Given the description of an element on the screen output the (x, y) to click on. 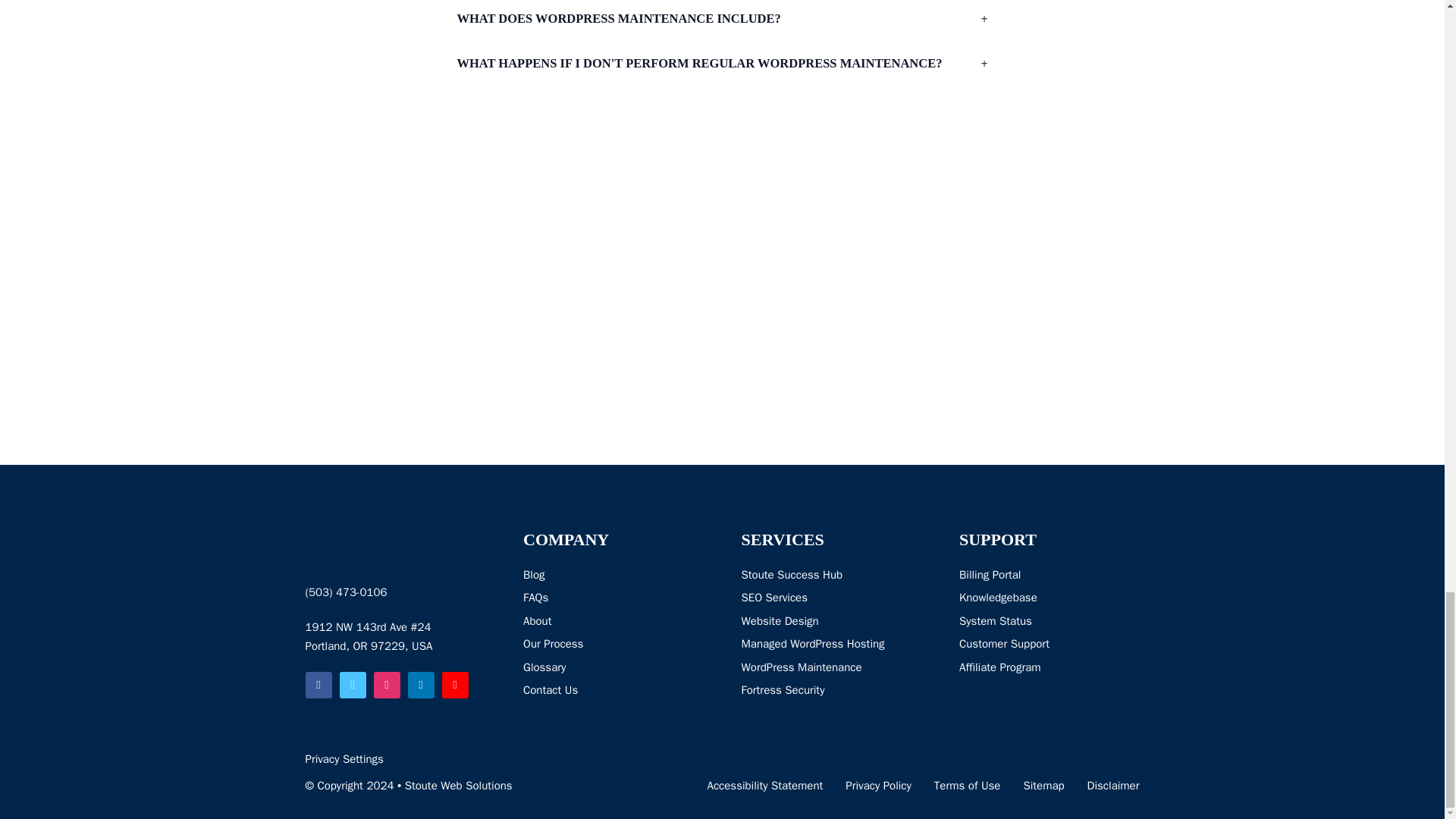
Glossary (552, 668)
Stoute Success Hub (813, 575)
Blog (552, 575)
FAQs (552, 598)
About (552, 621)
Contact Us (552, 690)
Our Process (552, 644)
